Given the description of an element on the screen output the (x, y) to click on. 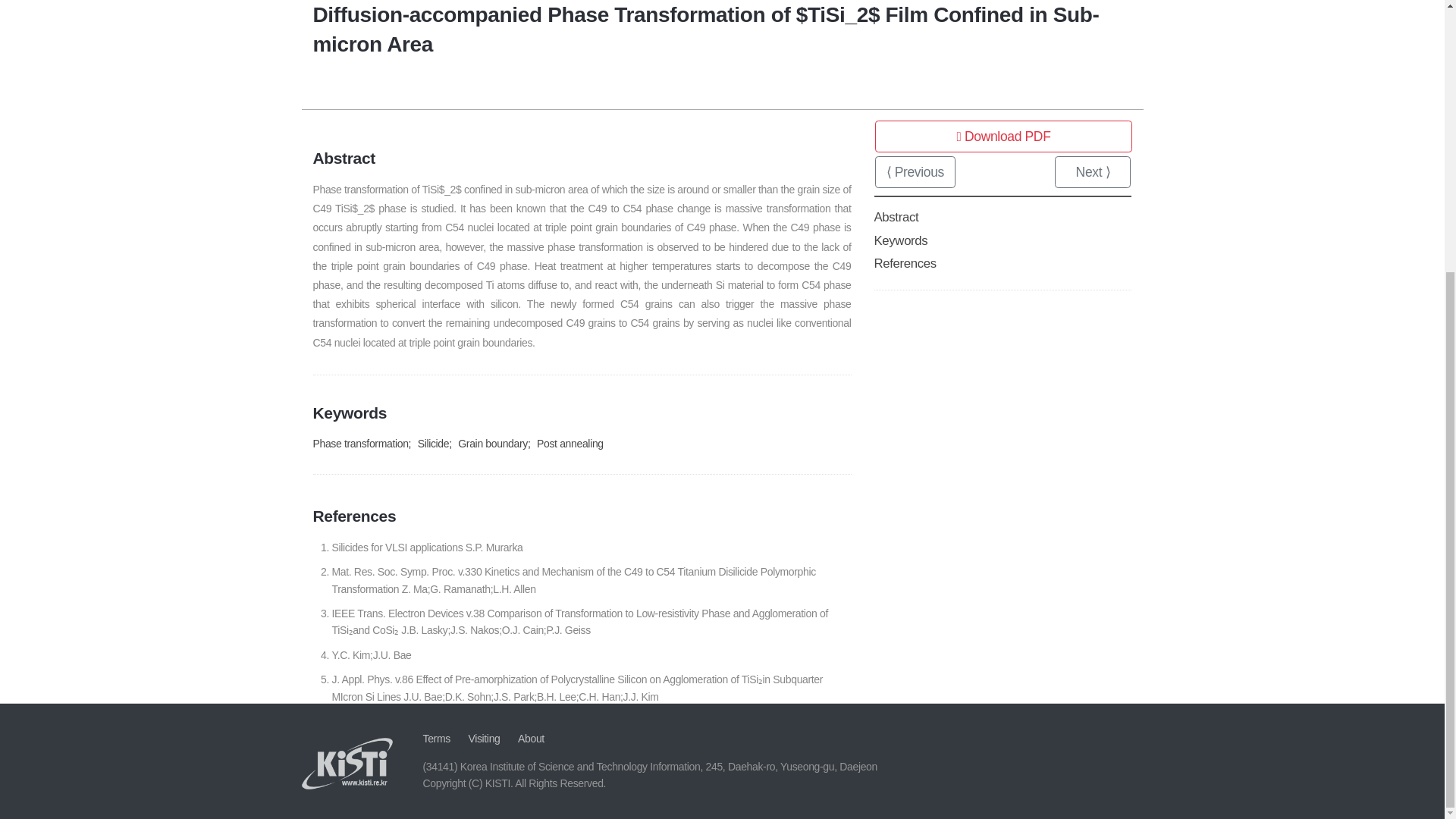
Post annealing (570, 443)
Keywords (900, 240)
Visiting (483, 738)
References (904, 263)
Phase transformation (360, 443)
References (904, 263)
About (531, 738)
Search with 'Phase transformation' (360, 443)
Search with 'Grain boundary' (492, 443)
Terms (436, 738)
Keywords (900, 240)
Kim, Yeong-Cheol (353, 33)
Search with 'Silicide' (433, 443)
